Given the description of an element on the screen output the (x, y) to click on. 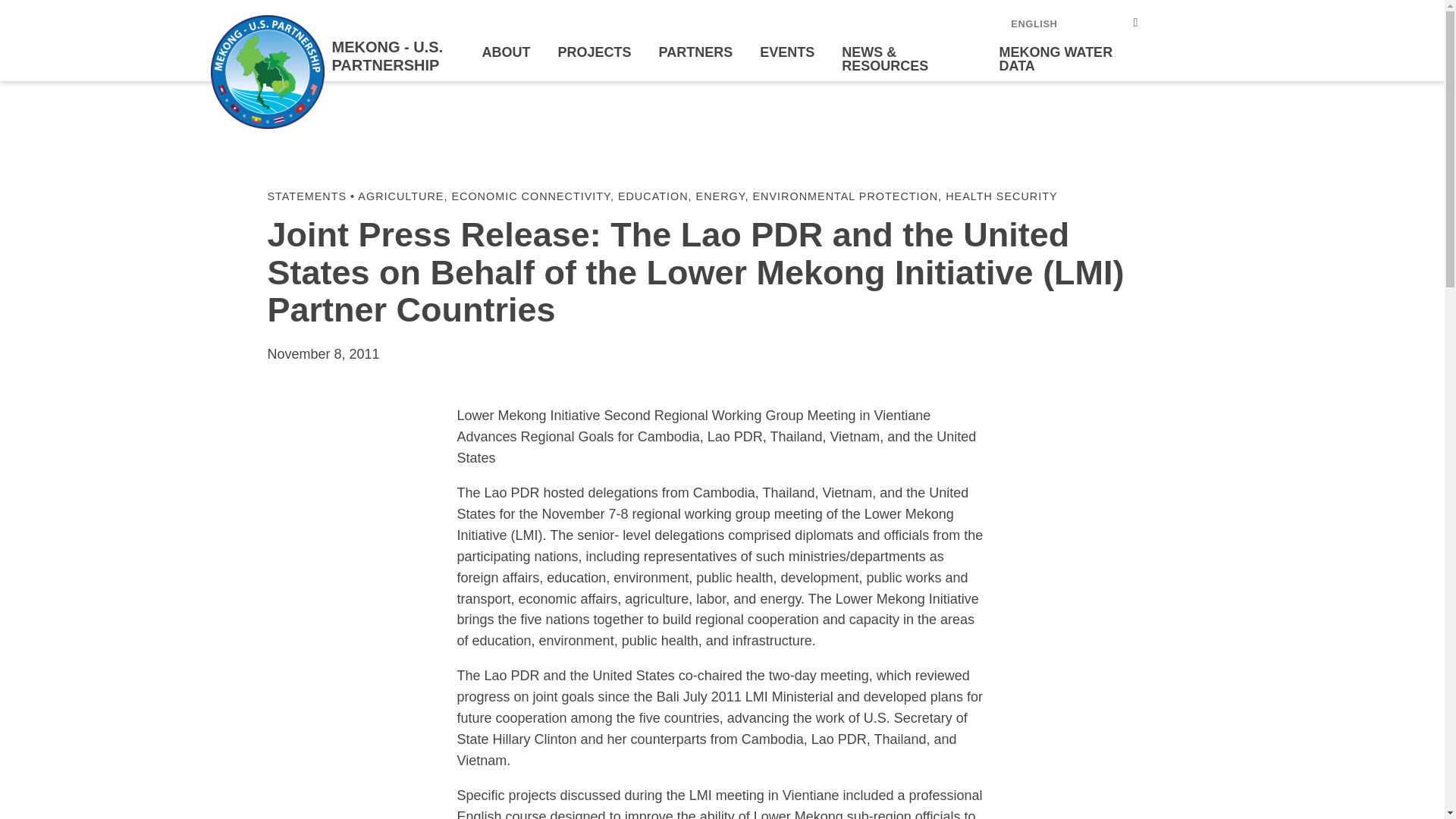
ENVIRONMENTAL PROTECTION (844, 196)
MEKONG - U.S. PARTNERSHIP (339, 55)
STATEMENTS (306, 196)
ABOUT (506, 52)
HEALTH SECURITY (1000, 196)
EDUCATION (652, 196)
ECONOMIC CONNECTIVITY (530, 196)
PARTNERS (696, 52)
EVENTS (786, 52)
PROJECTS (594, 52)
